Given the description of an element on the screen output the (x, y) to click on. 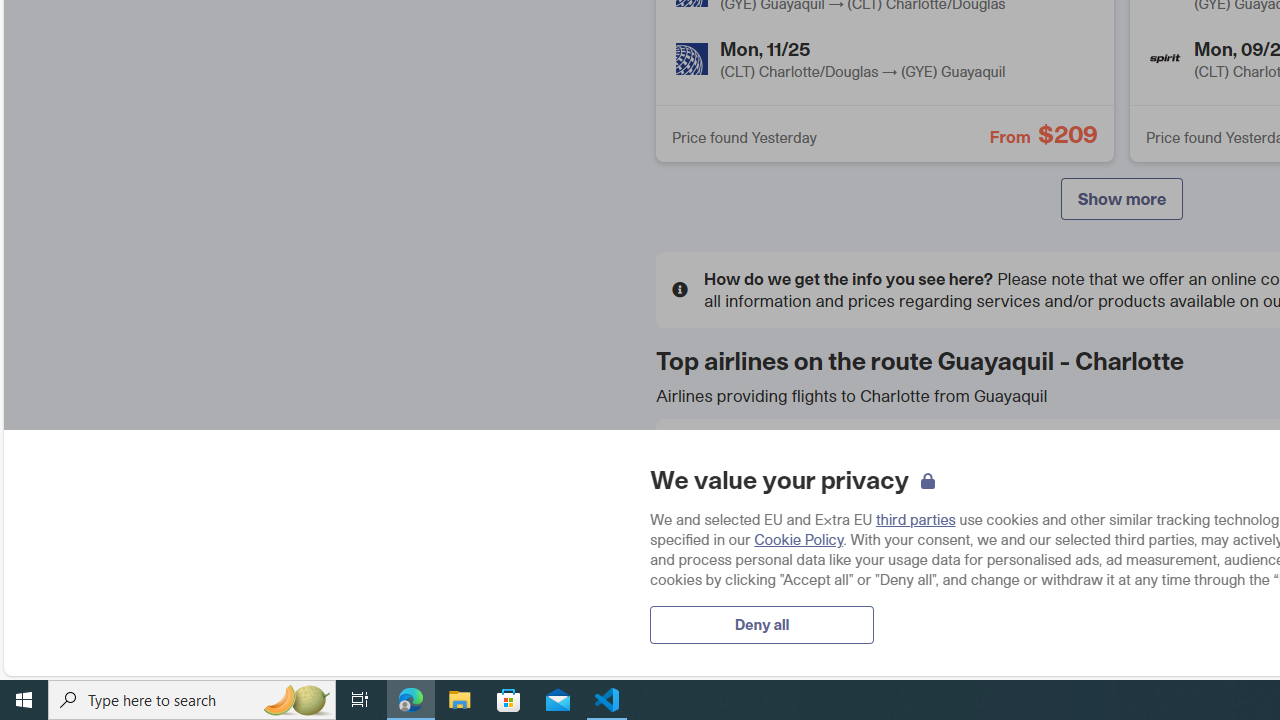
United (703, 610)
Cookie Policy (798, 539)
American Airlines (703, 466)
Show more (1121, 198)
LATAM (1005, 538)
DELTA DELTA (818, 539)
DELTA (703, 538)
LATAM LATAM (1121, 539)
United United (818, 611)
Deny all (762, 624)
Avianca (1005, 466)
American Airlines American Airlines (818, 467)
Spirit Airlines (1165, 58)
third parties (915, 519)
